Given the description of an element on the screen output the (x, y) to click on. 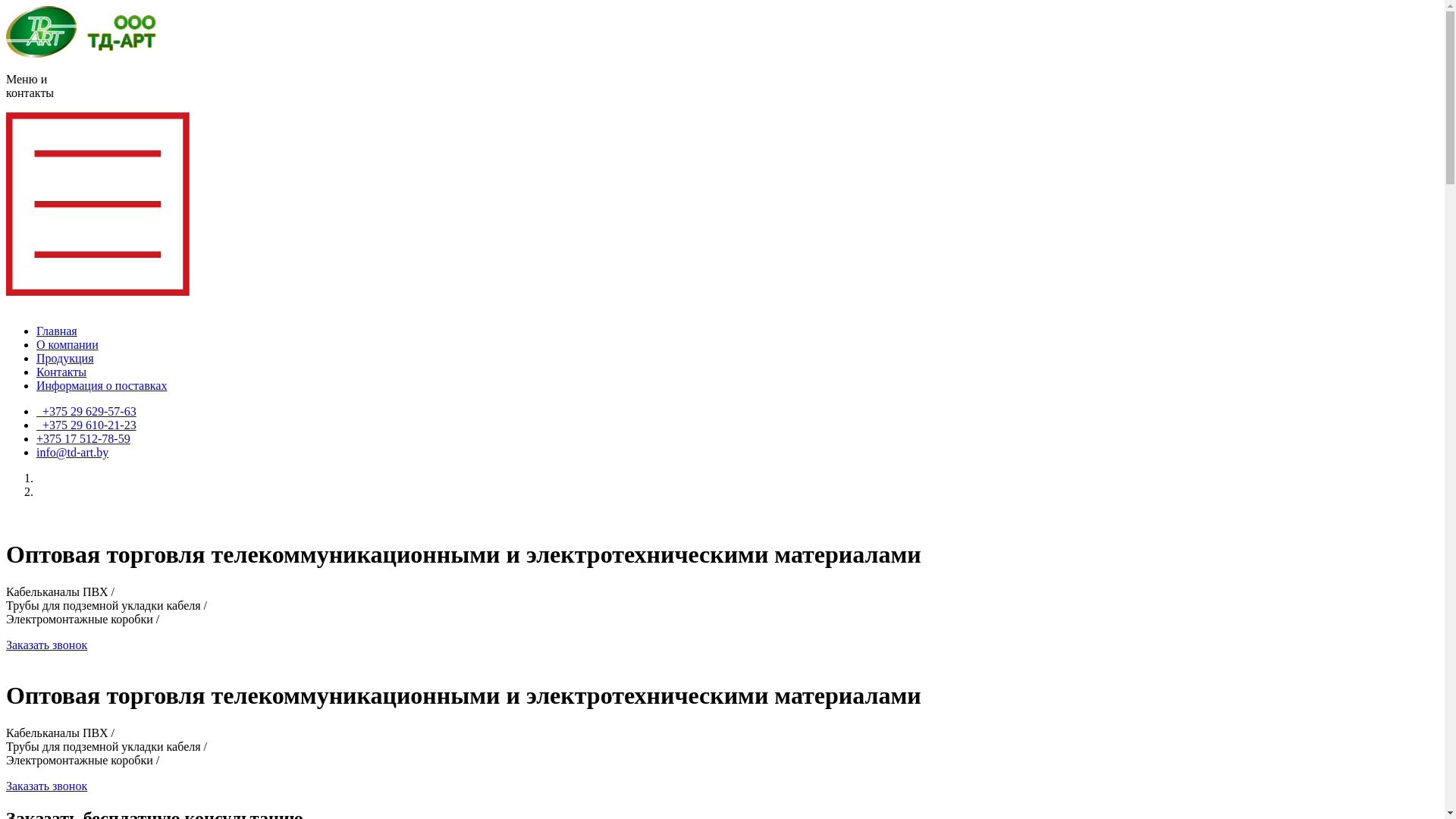
+375 29 610-21-23 Element type: text (86, 424)
info@td-art.by Element type: text (72, 451)
+375 17 512-78-59 Element type: text (83, 438)
+375 29 629-57-63 Element type: text (86, 410)
